Given the description of an element on the screen output the (x, y) to click on. 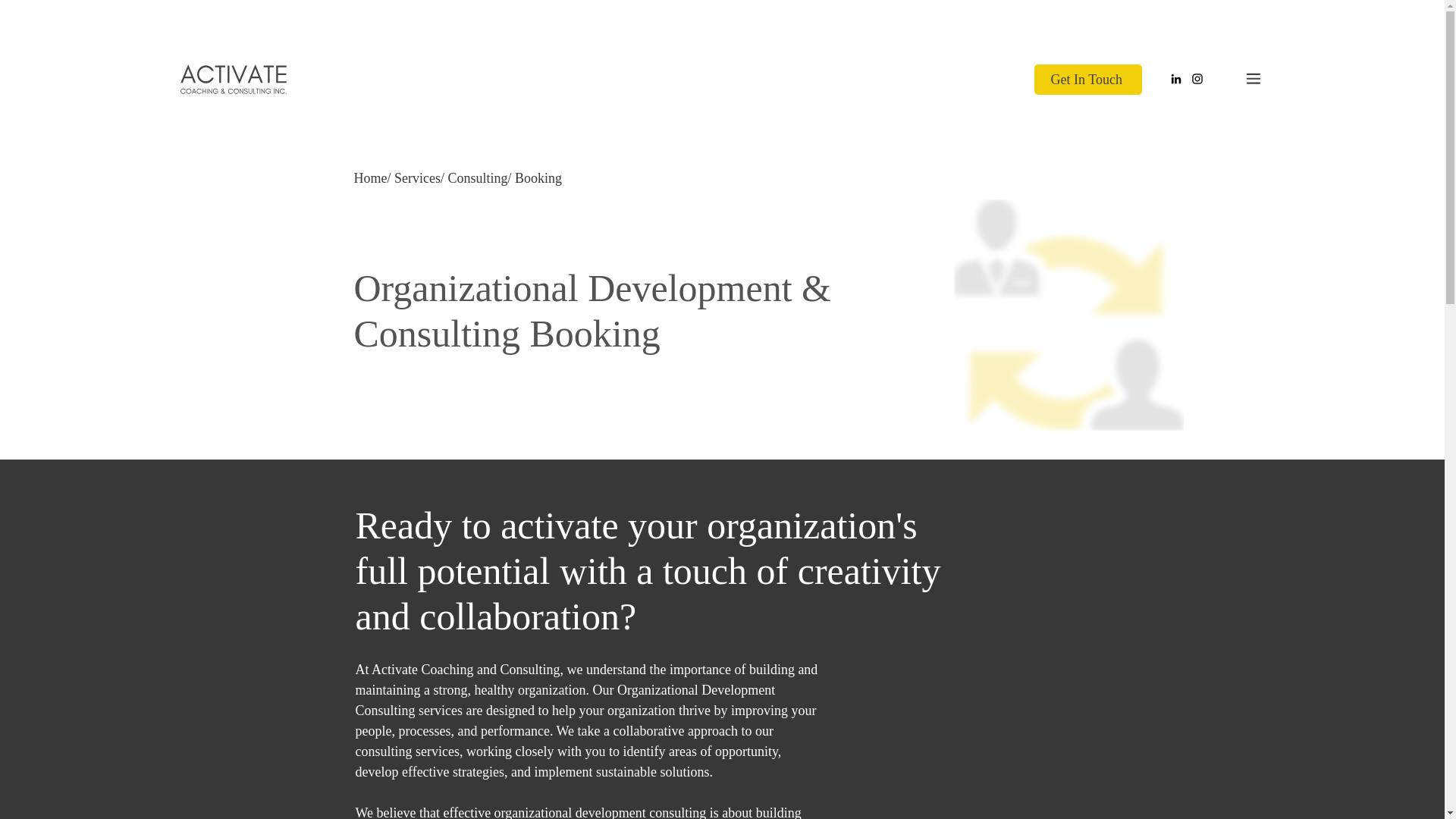
Get In Touch (1087, 79)
Home (370, 177)
